Given the description of an element on the screen output the (x, y) to click on. 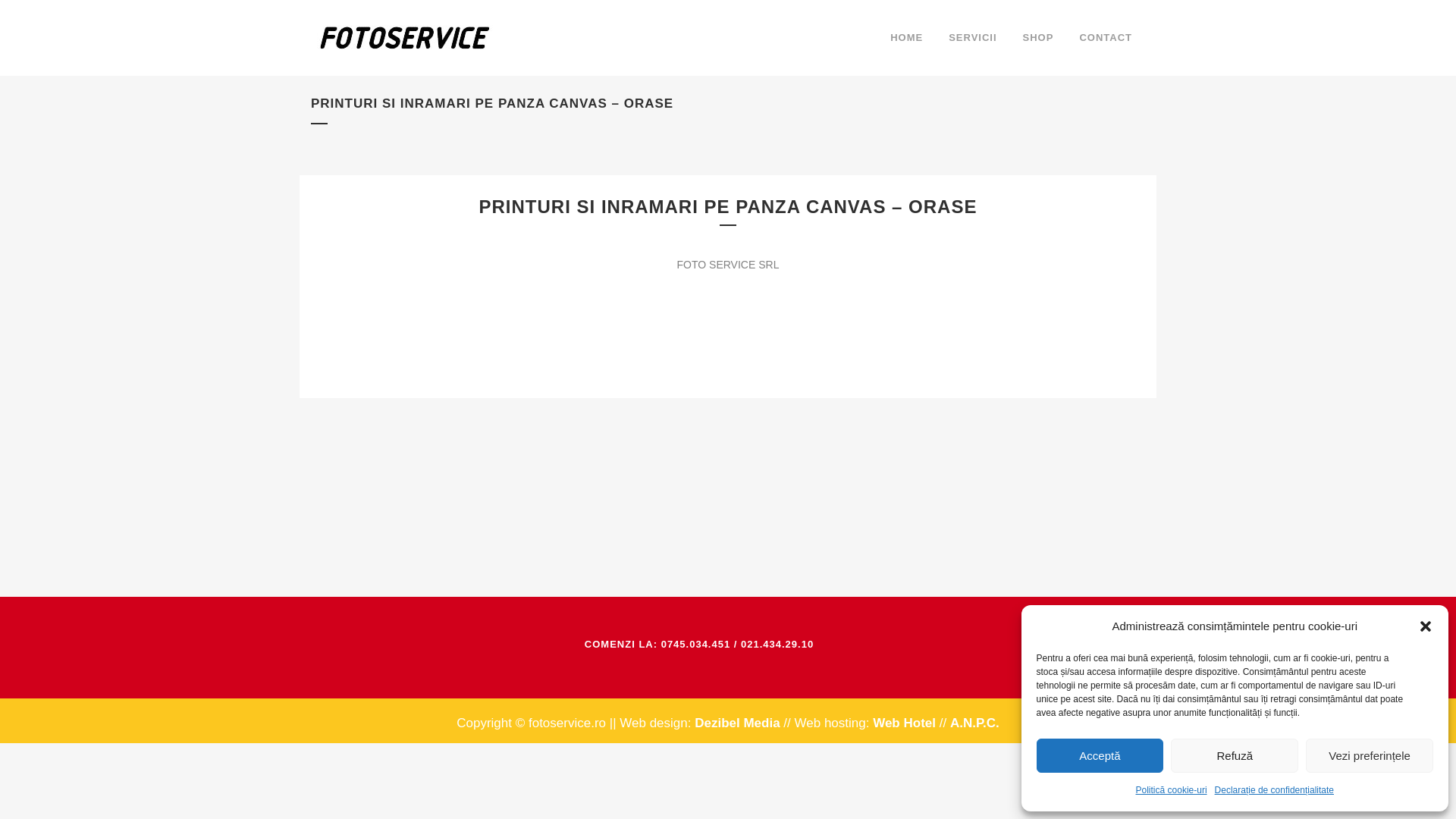
nike air max outlet store (428, 361)
adidas yeezy shoes (634, 184)
CONTACT (1104, 38)
SERVICII (972, 38)
